Given the description of an element on the screen output the (x, y) to click on. 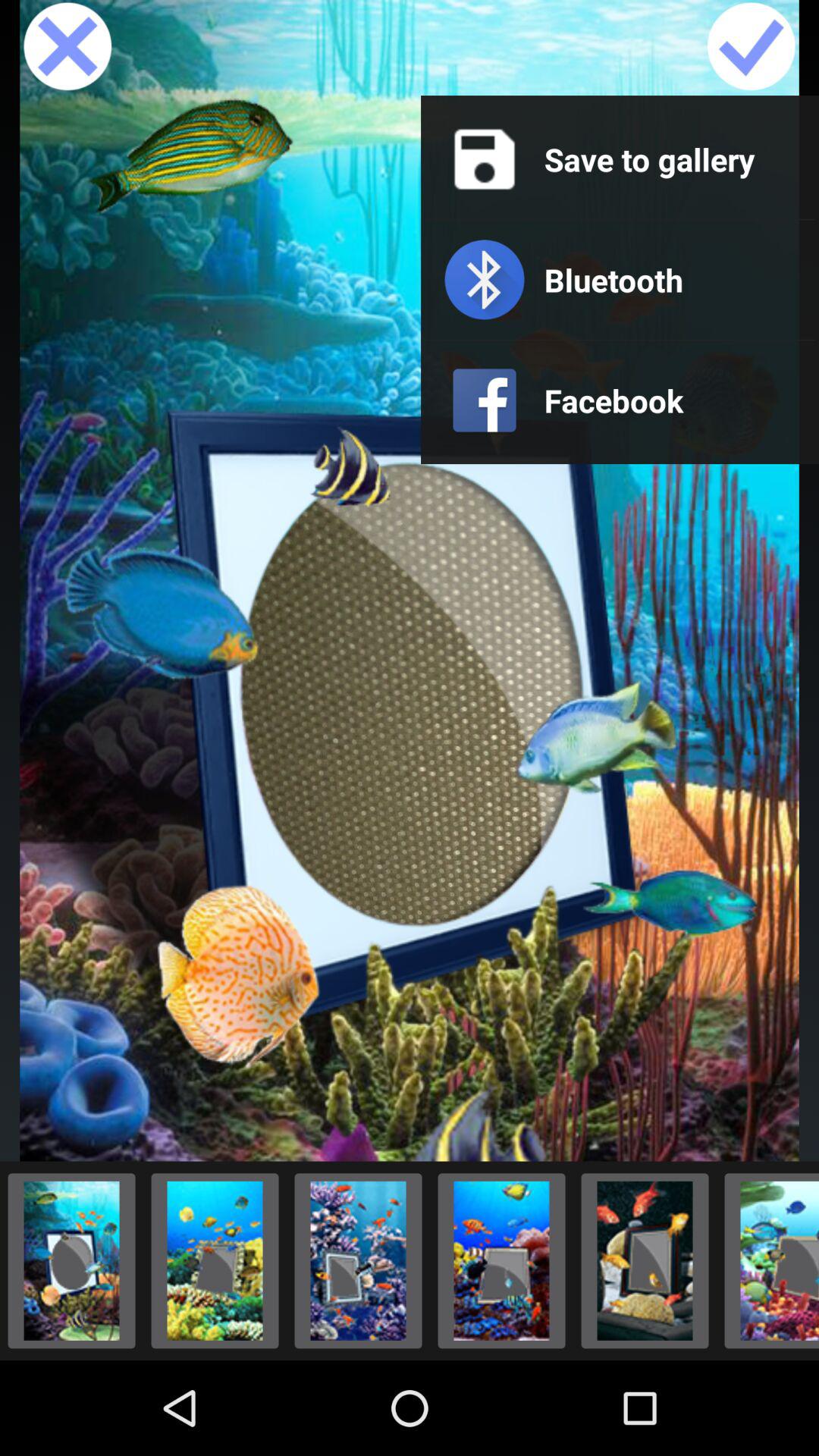
select wallpaper (751, 47)
